Given the description of an element on the screen output the (x, y) to click on. 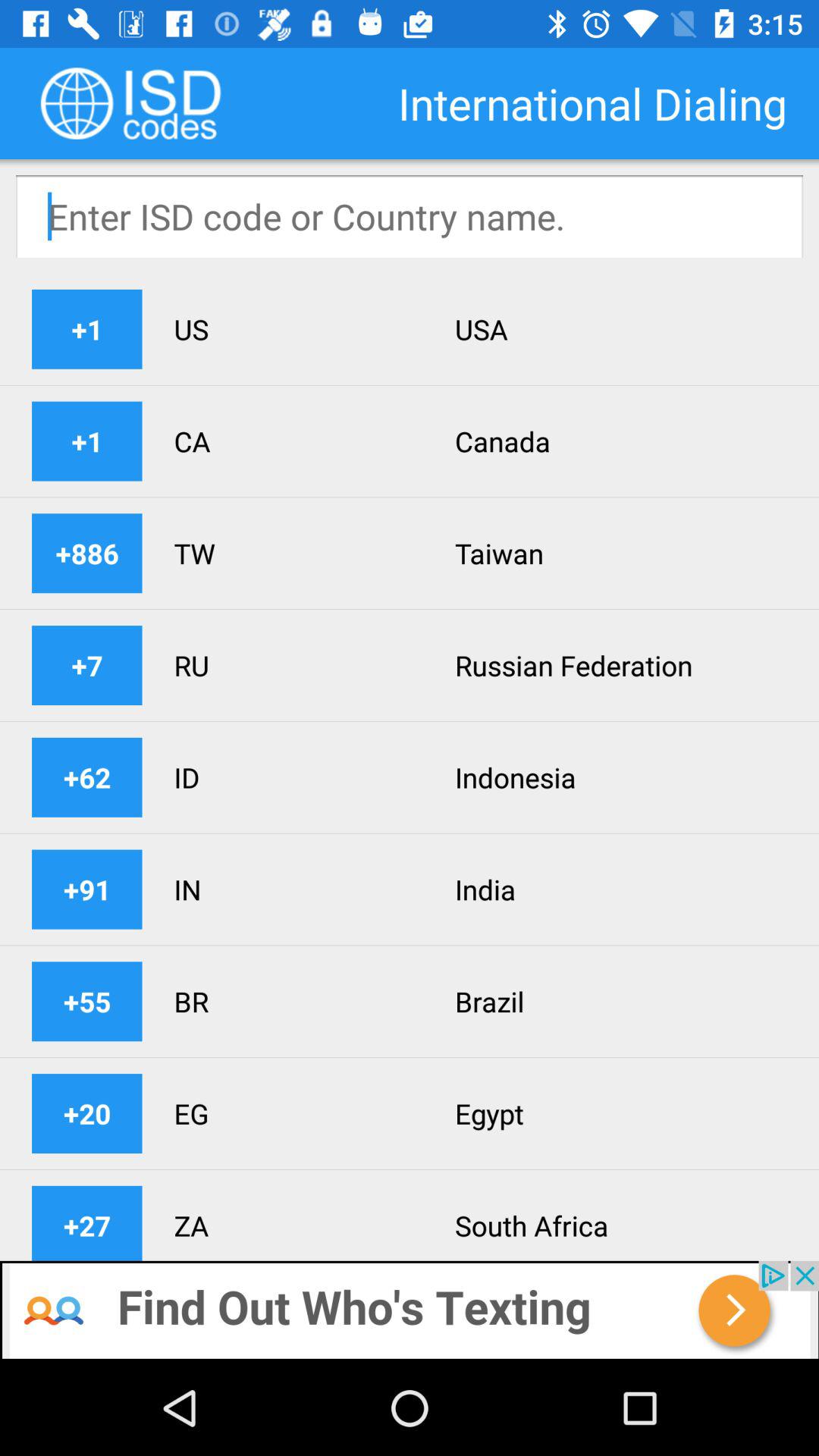
isd code and country name field (409, 216)
